Given the description of an element on the screen output the (x, y) to click on. 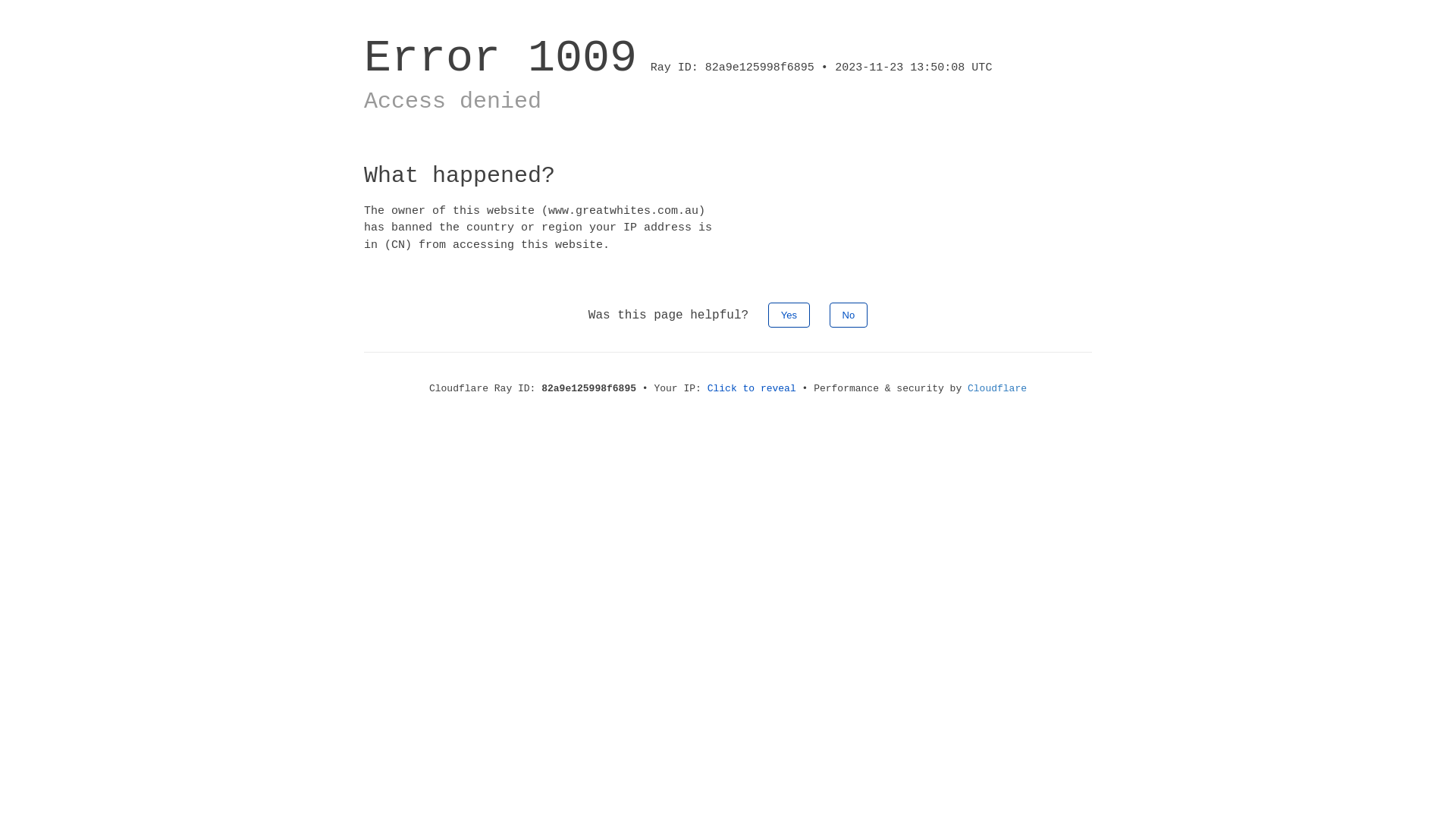
Cloudflare Element type: text (996, 388)
Yes Element type: text (788, 314)
No Element type: text (848, 314)
Click to reveal Element type: text (751, 388)
